Given the description of an element on the screen output the (x, y) to click on. 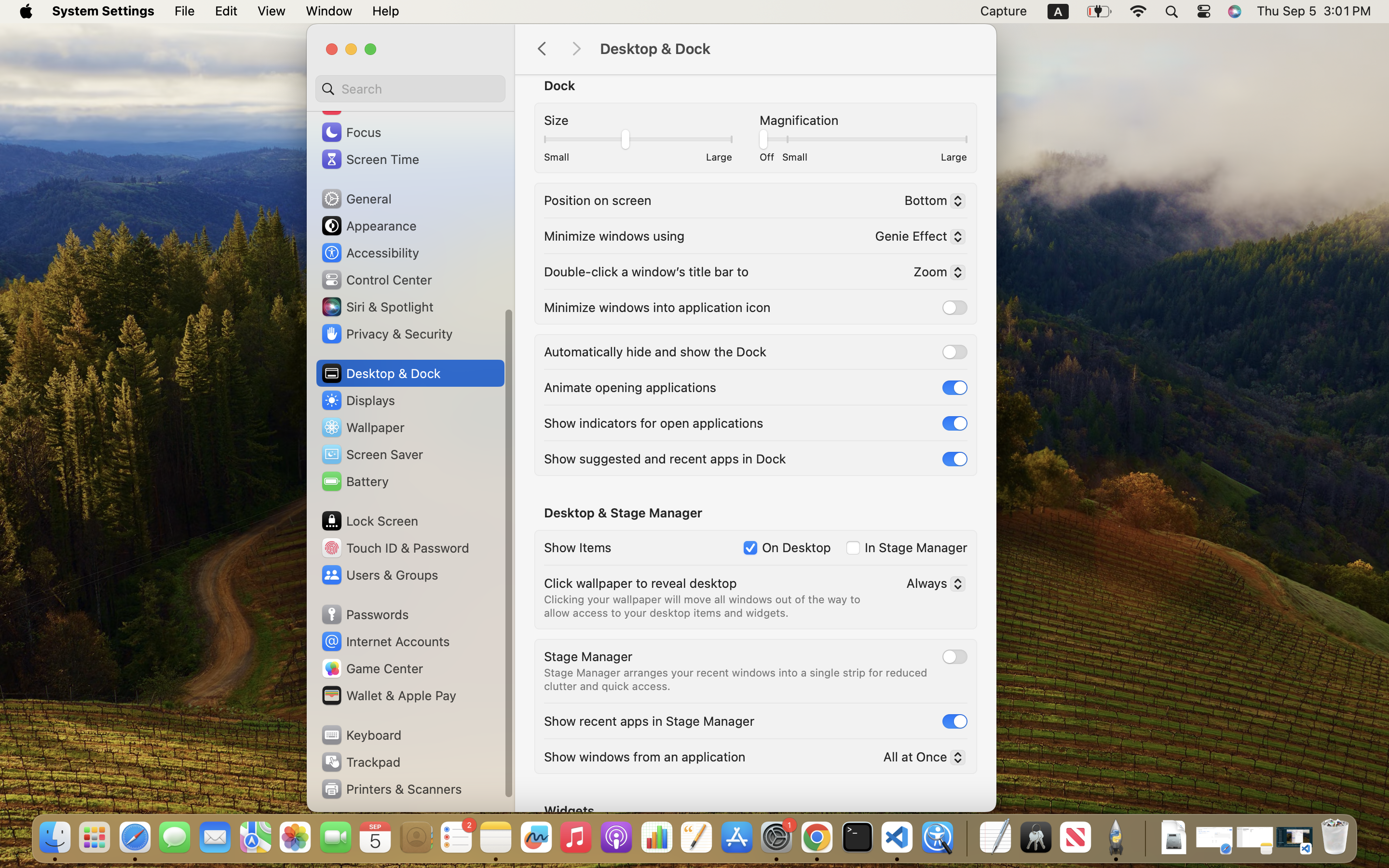
Show Items Element type: AXStaticText (577, 546)
Passwords Element type: AXStaticText (364, 613)
Desktop & Dock Element type: AXStaticText (788, 49)
Users & Groups Element type: AXStaticText (378, 574)
Wallpaper Element type: AXStaticText (362, 426)
